Given the description of an element on the screen output the (x, y) to click on. 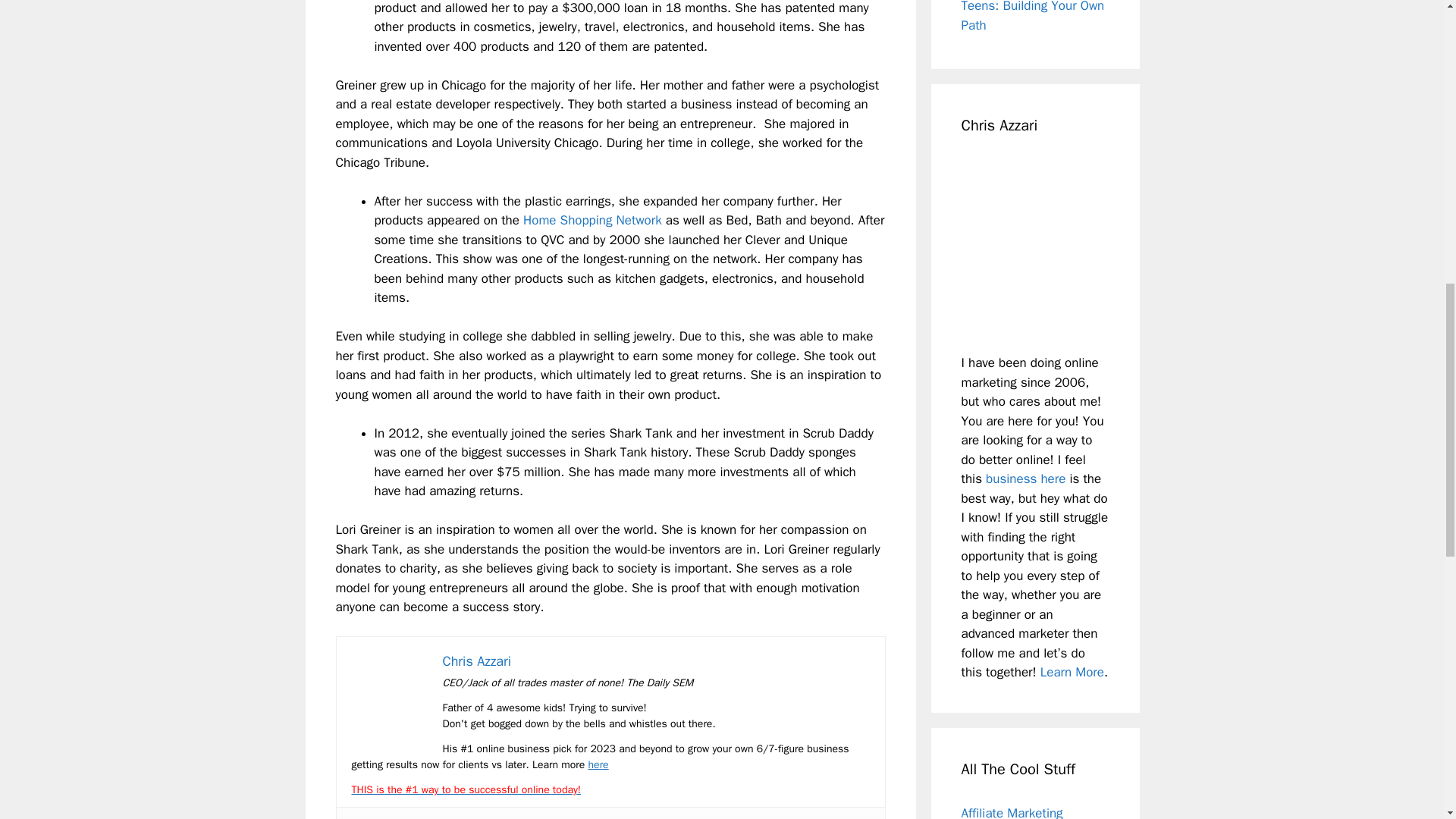
here (598, 764)
business here (1025, 478)
Affiliate Marketing (1011, 812)
Learn More (1072, 672)
Chris Azzari (477, 660)
Top Side Hustle Ideas for Teens: Building Your Own Path (1032, 16)
Home Shopping Network (592, 220)
